Given the description of an element on the screen output the (x, y) to click on. 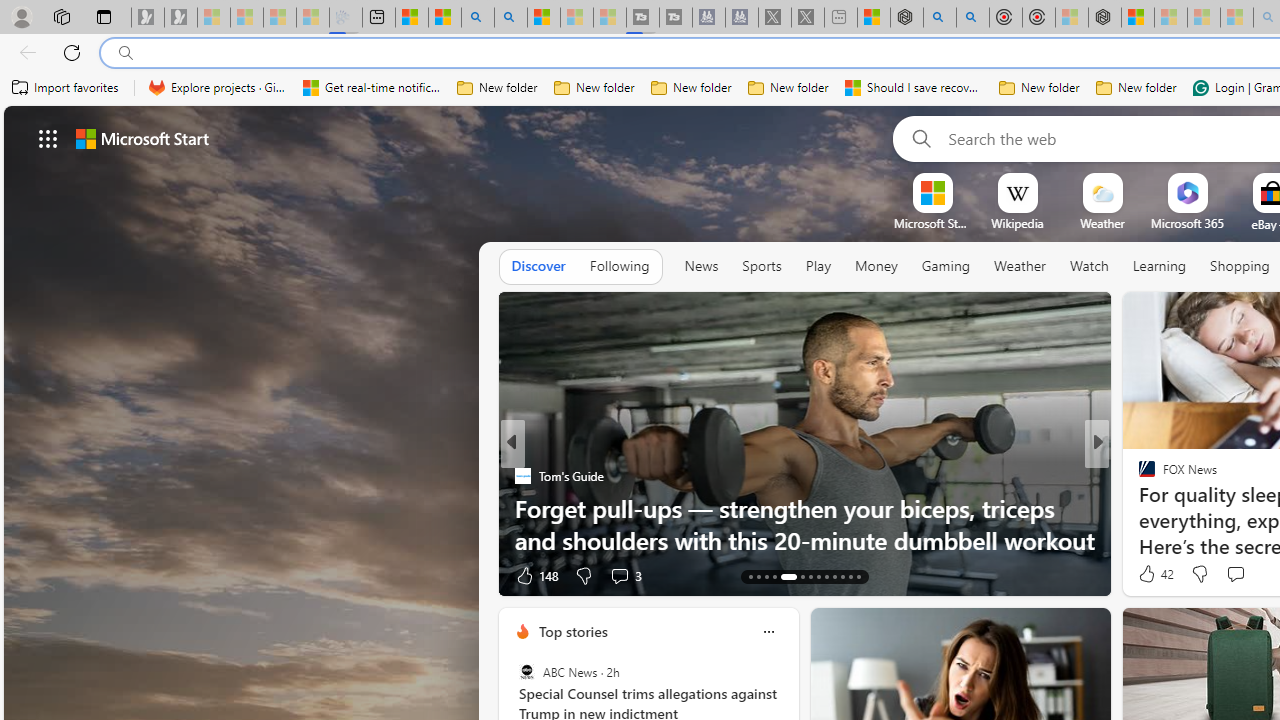
50 Like (1149, 574)
View comments 2 Comment (1234, 575)
poe - Search (940, 17)
The Kanso (1138, 507)
Search icon (125, 53)
View comments 14 Comment (1229, 575)
View comments 1 Comment (11, 575)
Gaming (945, 265)
poe ++ standard - Search (973, 17)
AutomationID: tab-22 (833, 576)
AutomationID: tab-16 (774, 576)
492 Like (1151, 574)
